Given the description of an element on the screen output the (x, y) to click on. 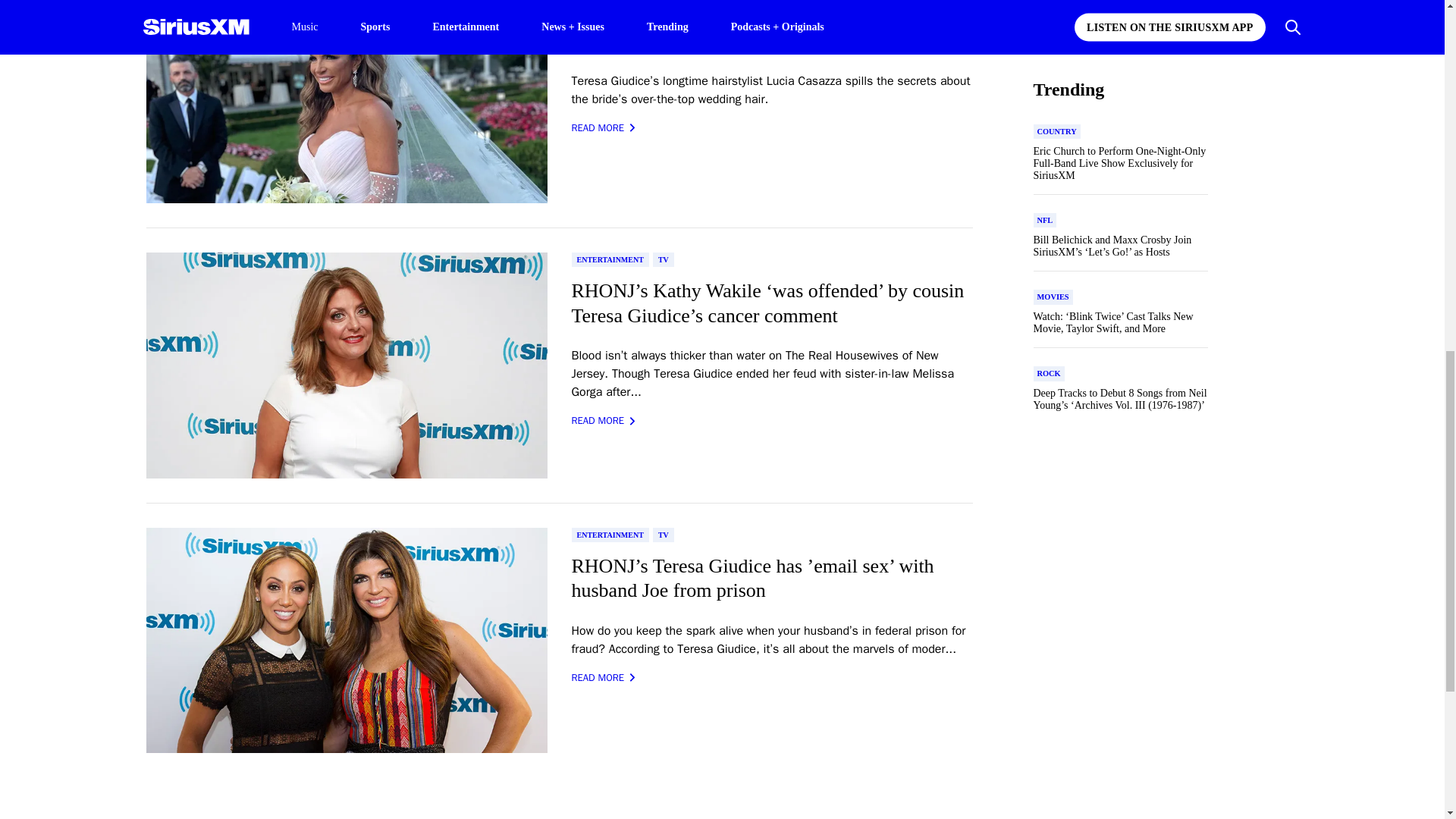
TV (663, 259)
ENTERTAINMENT (610, 259)
READ MORE (603, 127)
